Given the description of an element on the screen output the (x, y) to click on. 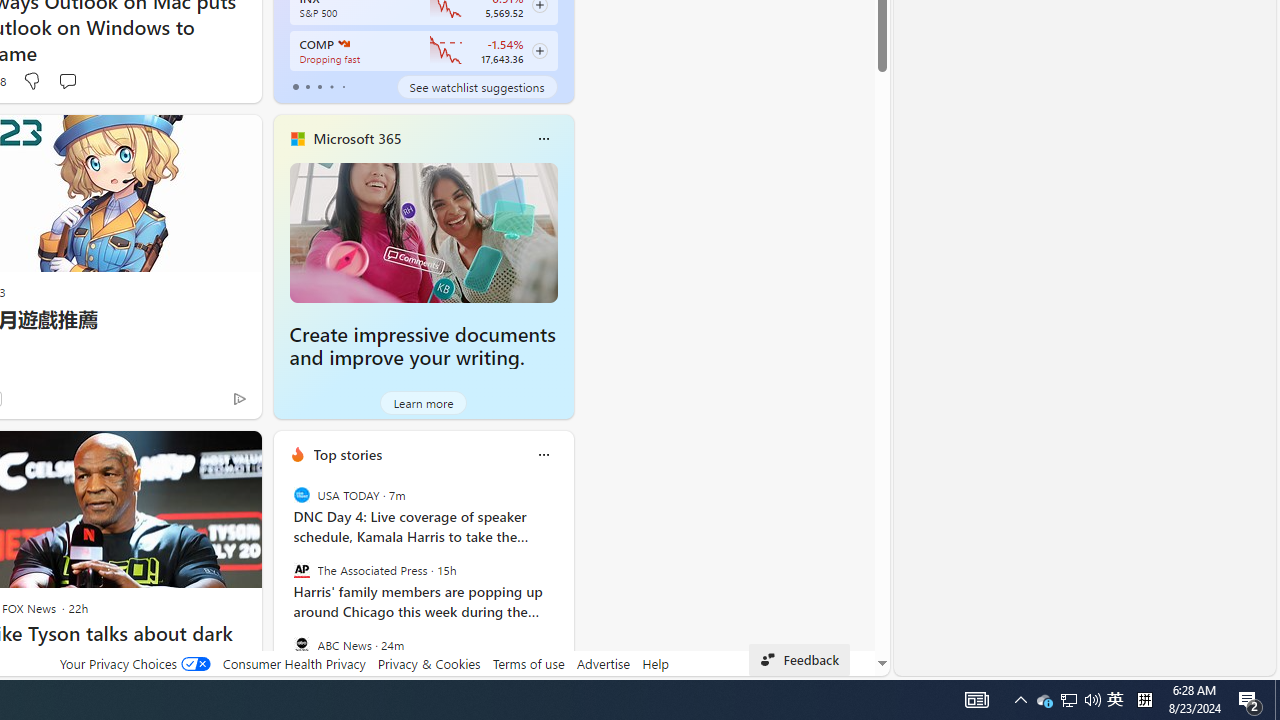
Privacy & Cookies (429, 663)
tab-0 (295, 86)
NASDAQ (342, 43)
Start the conversation (66, 80)
See watchlist suggestions (476, 86)
tab-2 (319, 86)
previous (283, 583)
Your Privacy Choices (134, 663)
